Given the description of an element on the screen output the (x, y) to click on. 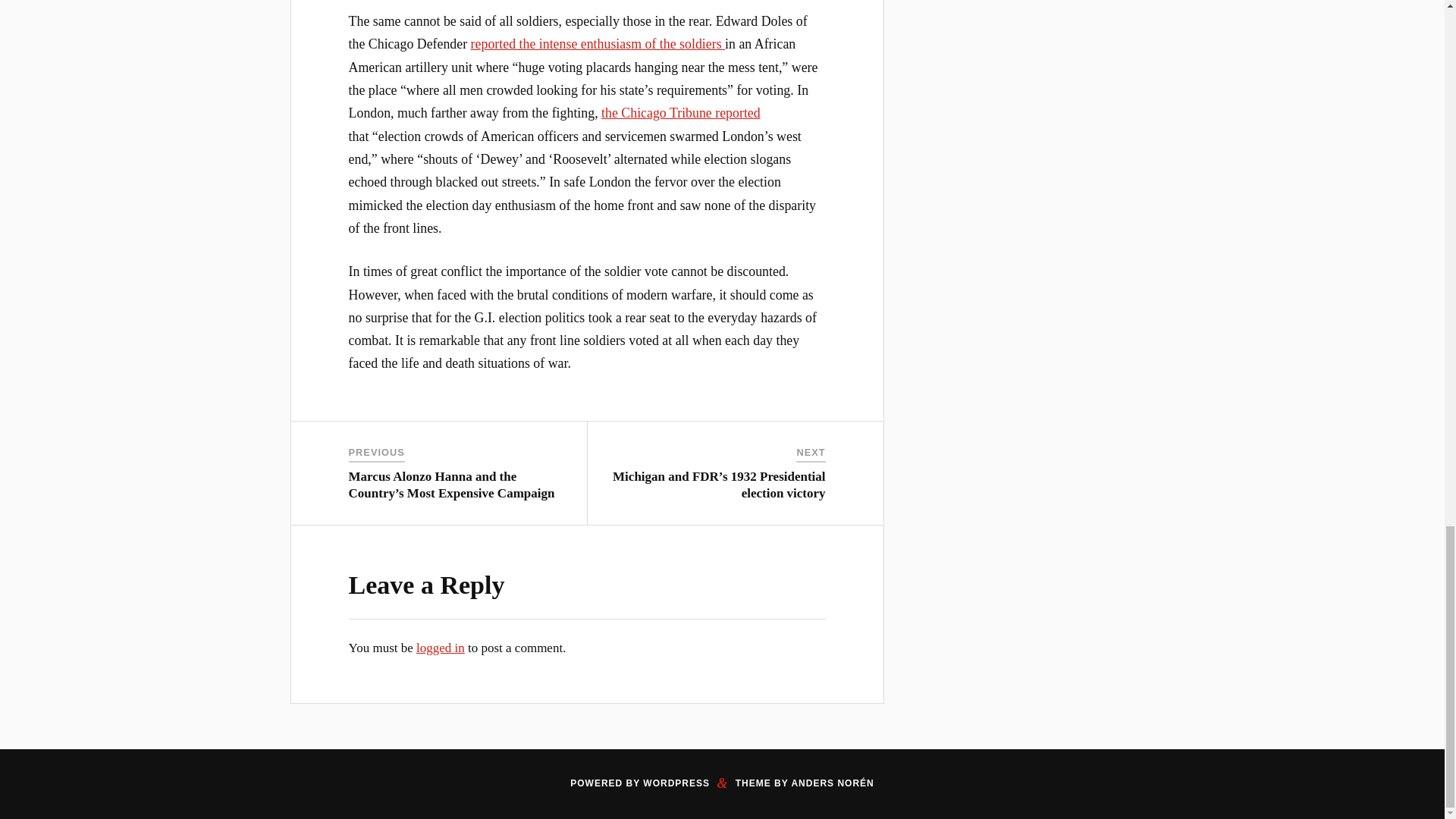
reported the intense enthusiasm of the soldiers (597, 43)
the Chicago Tribune reported (680, 112)
